Given the description of an element on the screen output the (x, y) to click on. 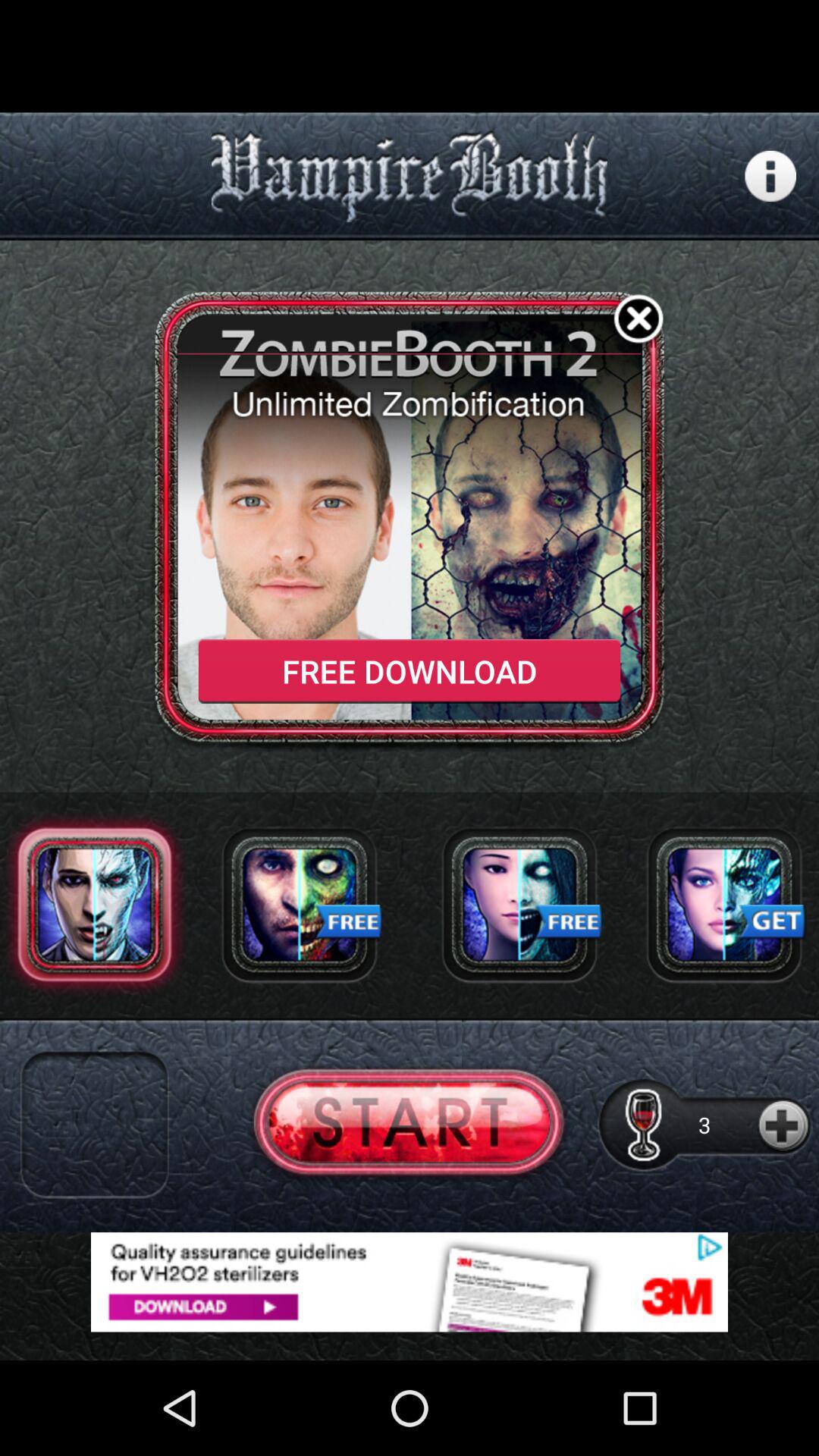
free app open (299, 904)
